Given the description of an element on the screen output the (x, y) to click on. 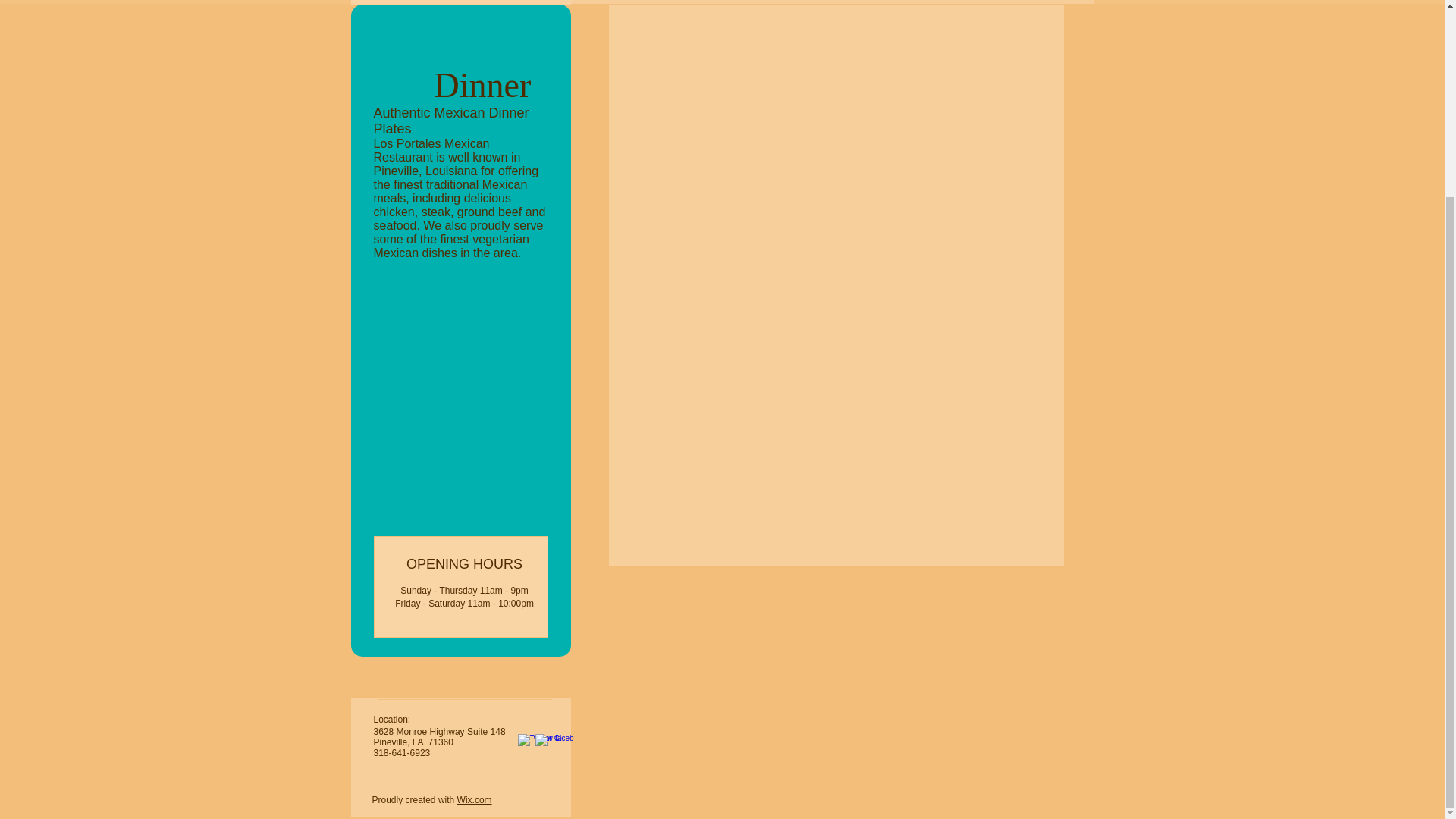
Wix.com (474, 799)
